Given the description of an element on the screen output the (x, y) to click on. 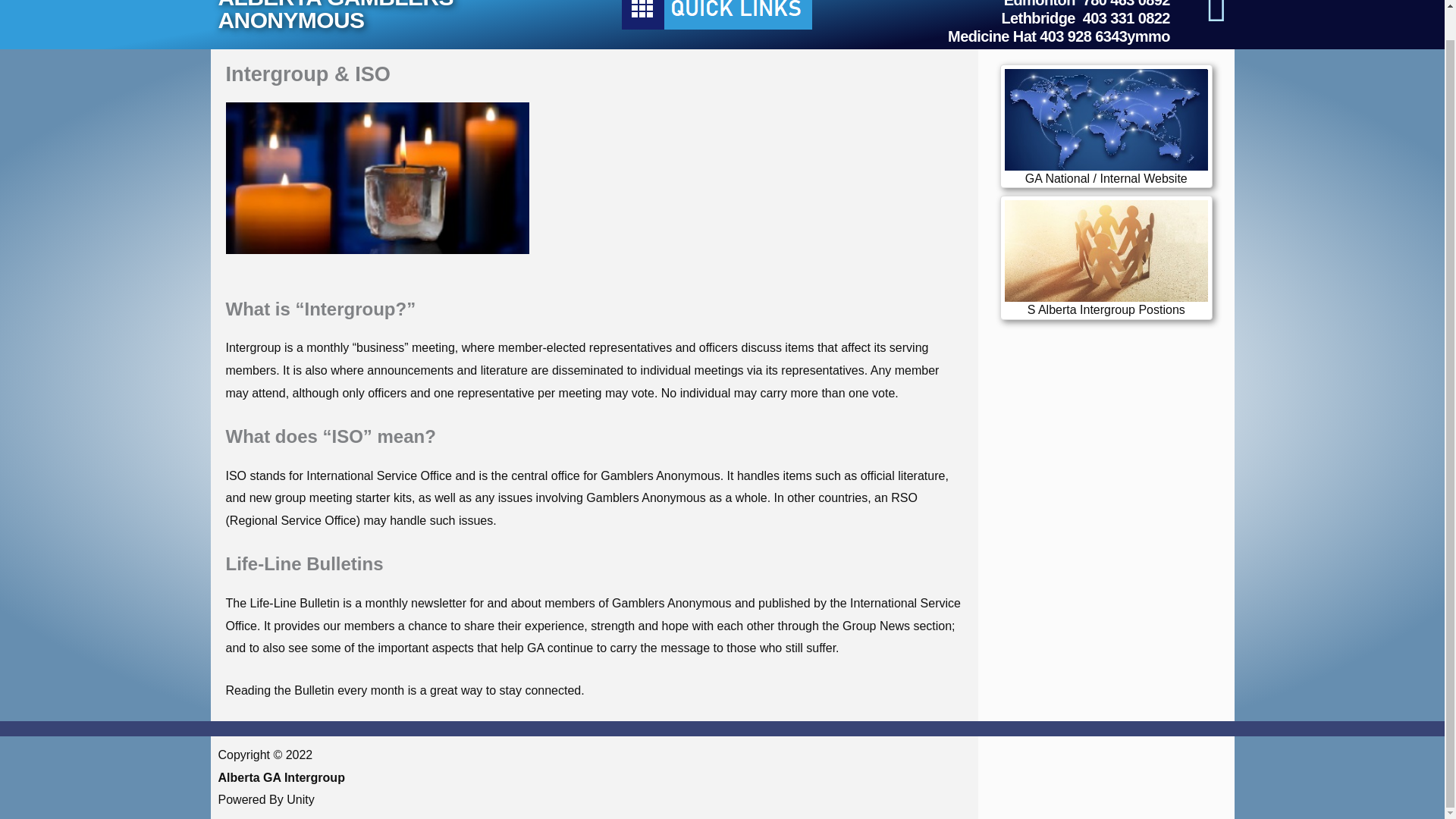
ALBERTA GAMBLERS ANONYMOUS (335, 16)
